Given the description of an element on the screen output the (x, y) to click on. 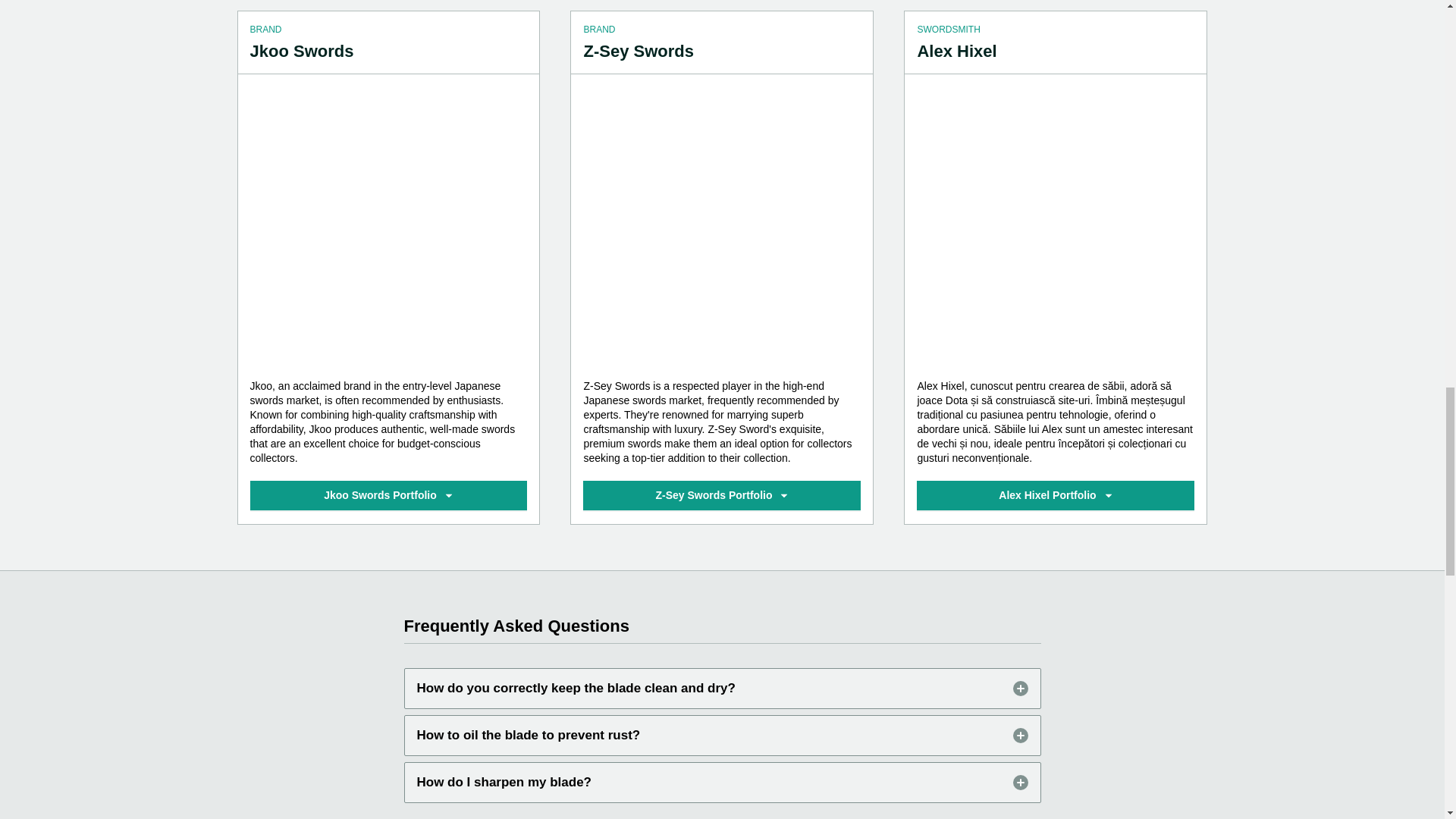
Jkoo Swords Portfolio (388, 495)
